Given the description of an element on the screen output the (x, y) to click on. 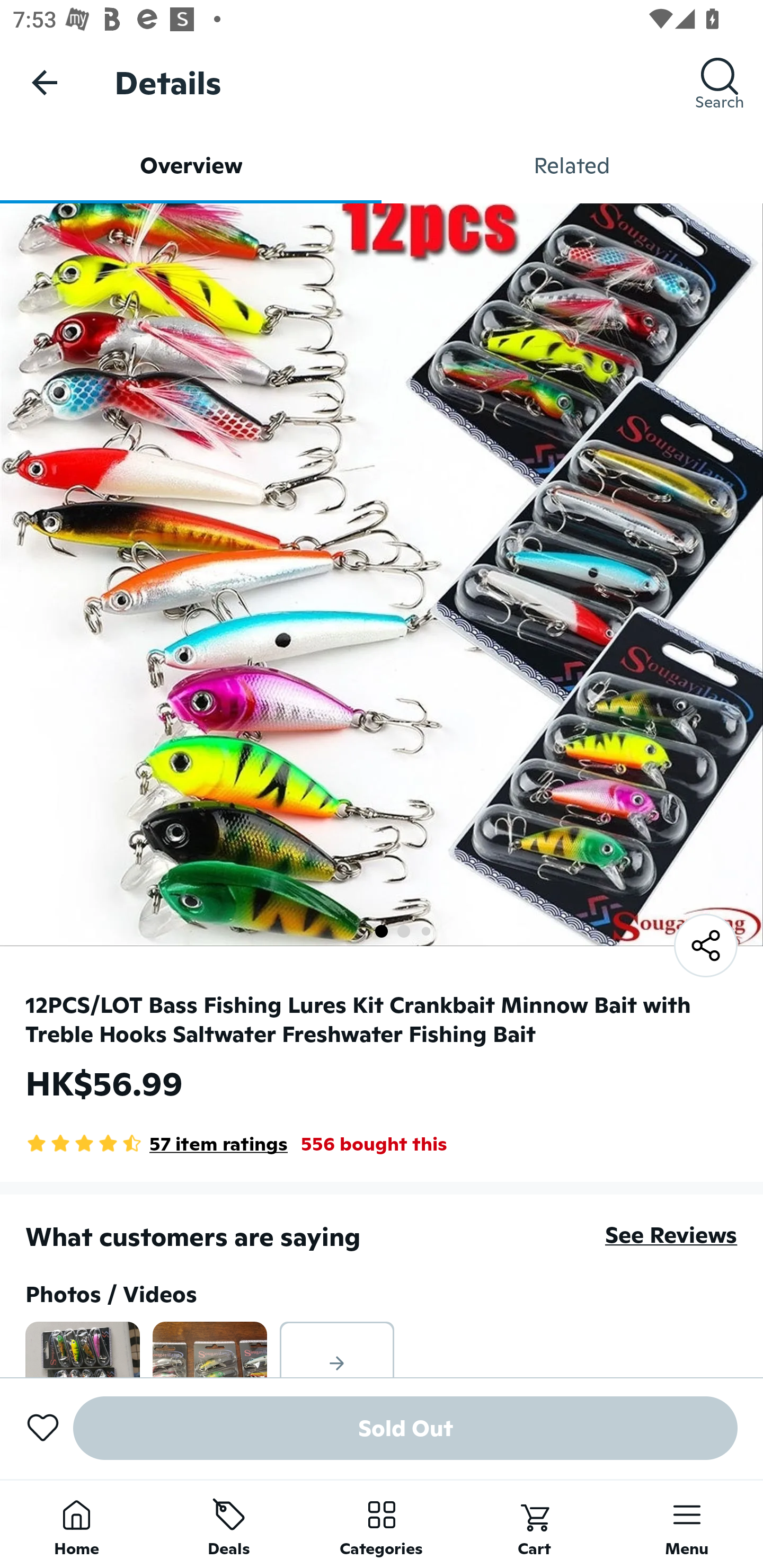
Navigate up (44, 82)
Search (719, 82)
Related (572, 165)
4.3 Star Rating 57 item ratings (156, 1143)
See Reviews (671, 1234)
Right arrow (337, 1348)
Sold Out (405, 1428)
Home (76, 1523)
Deals (228, 1523)
Categories (381, 1523)
Cart (533, 1523)
Menu (686, 1523)
